Given the description of an element on the screen output the (x, y) to click on. 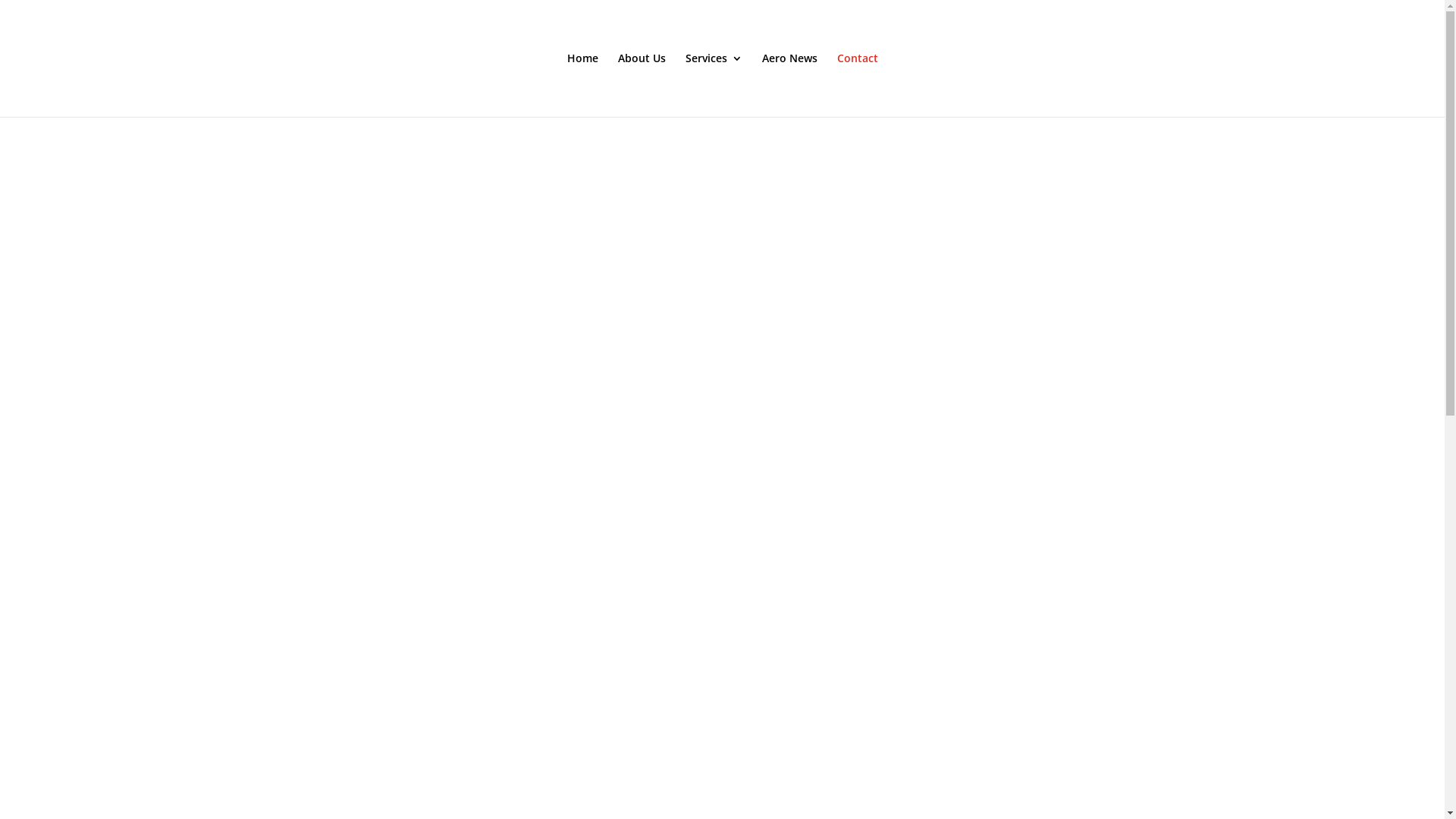
Contact Element type: text (857, 84)
Services Element type: text (713, 84)
Aero News Element type: text (788, 84)
Home Element type: text (582, 84)
About Us Element type: text (641, 84)
